Given the description of an element on the screen output the (x, y) to click on. 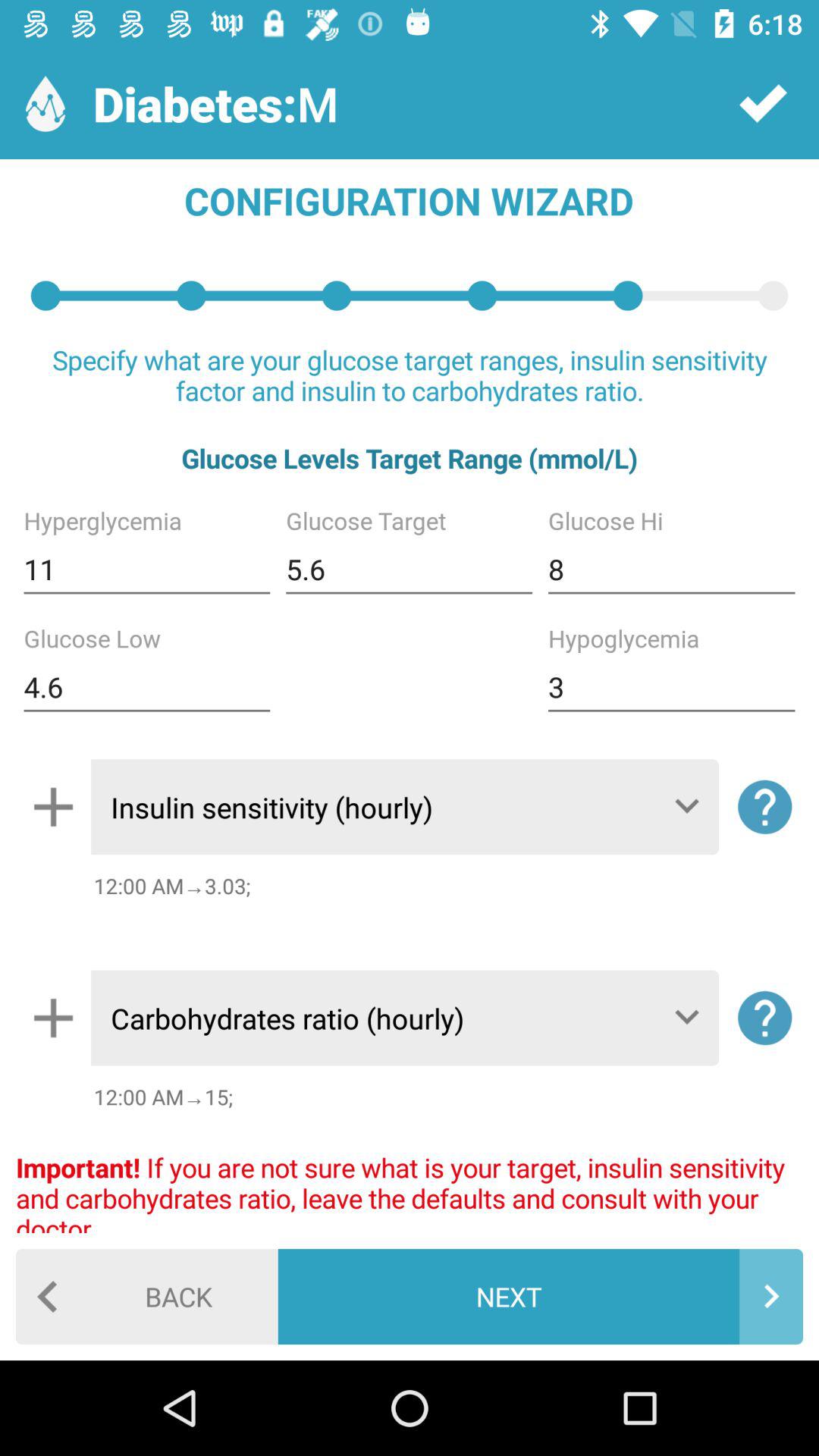
jump to the next icon (540, 1296)
